Given the description of an element on the screen output the (x, y) to click on. 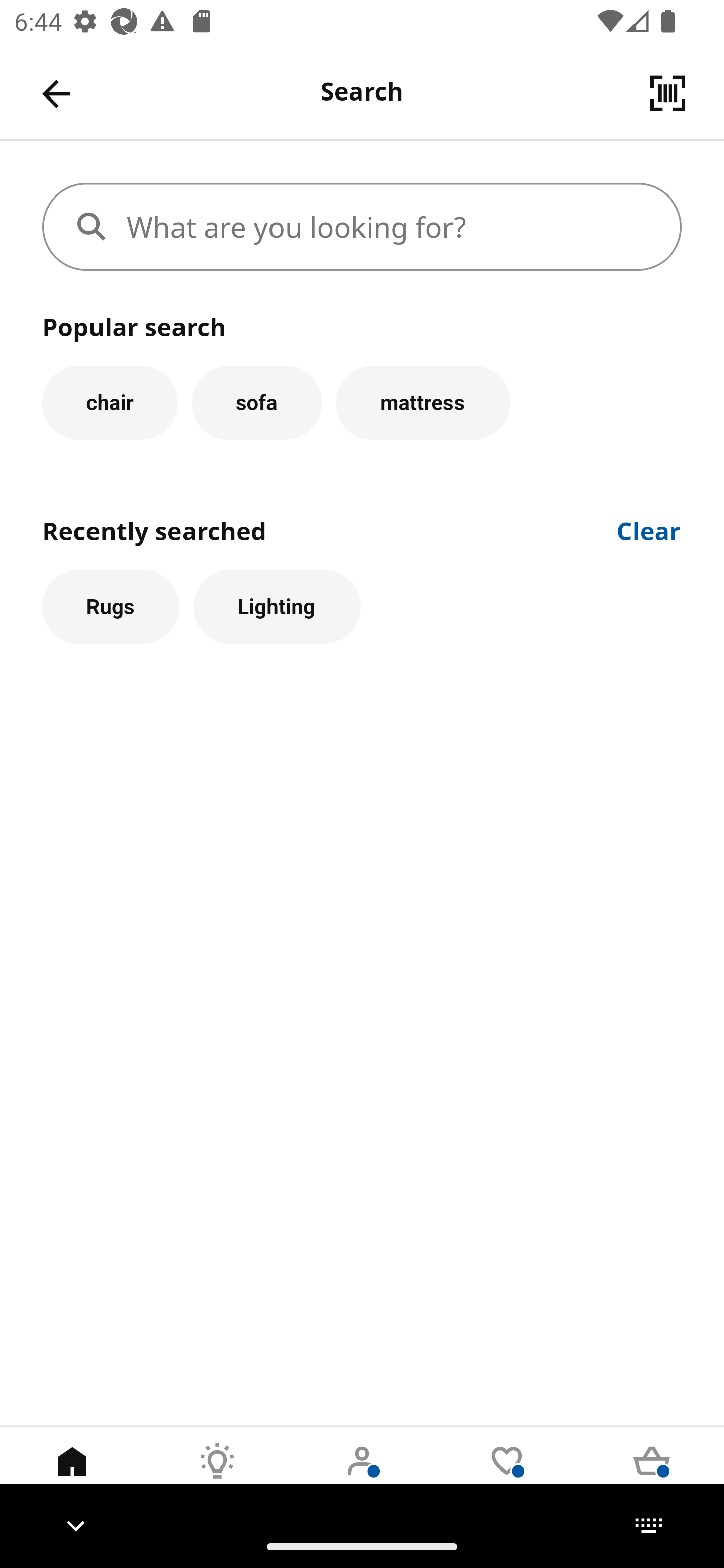
chair (109, 402)
sofa (256, 402)
mattress (423, 402)
Clear (649, 528)
Rugs (110, 606)
Lighting (277, 606)
Home
Tab 1 of 5 (72, 1476)
Inspirations
Tab 2 of 5 (216, 1476)
User
Tab 3 of 5 (361, 1476)
Wishlist
Tab 4 of 5 (506, 1476)
Cart
Tab 5 of 5 (651, 1476)
